Given the description of an element on the screen output the (x, y) to click on. 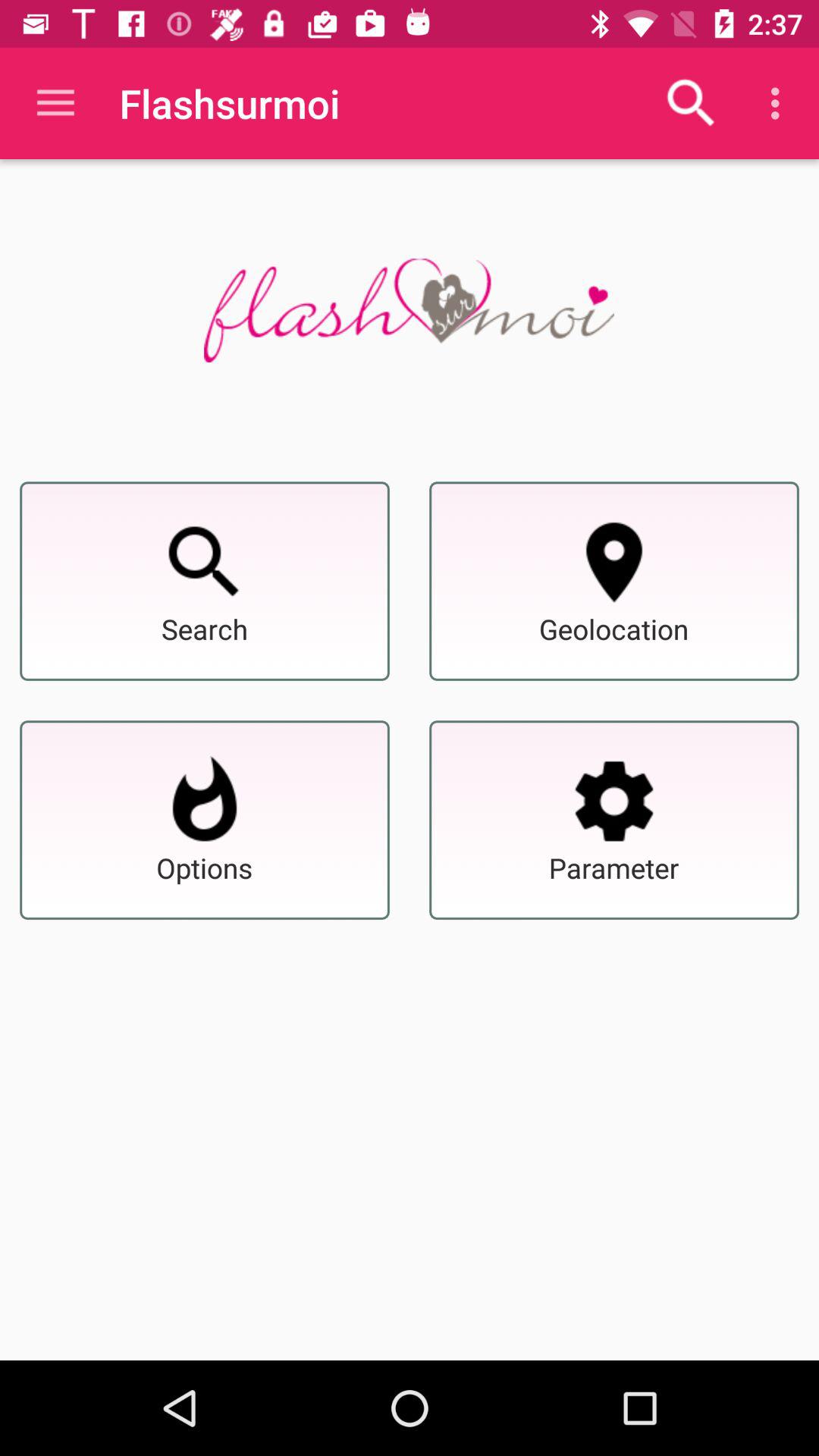
enter search criteria (614, 801)
